Given the description of an element on the screen output the (x, y) to click on. 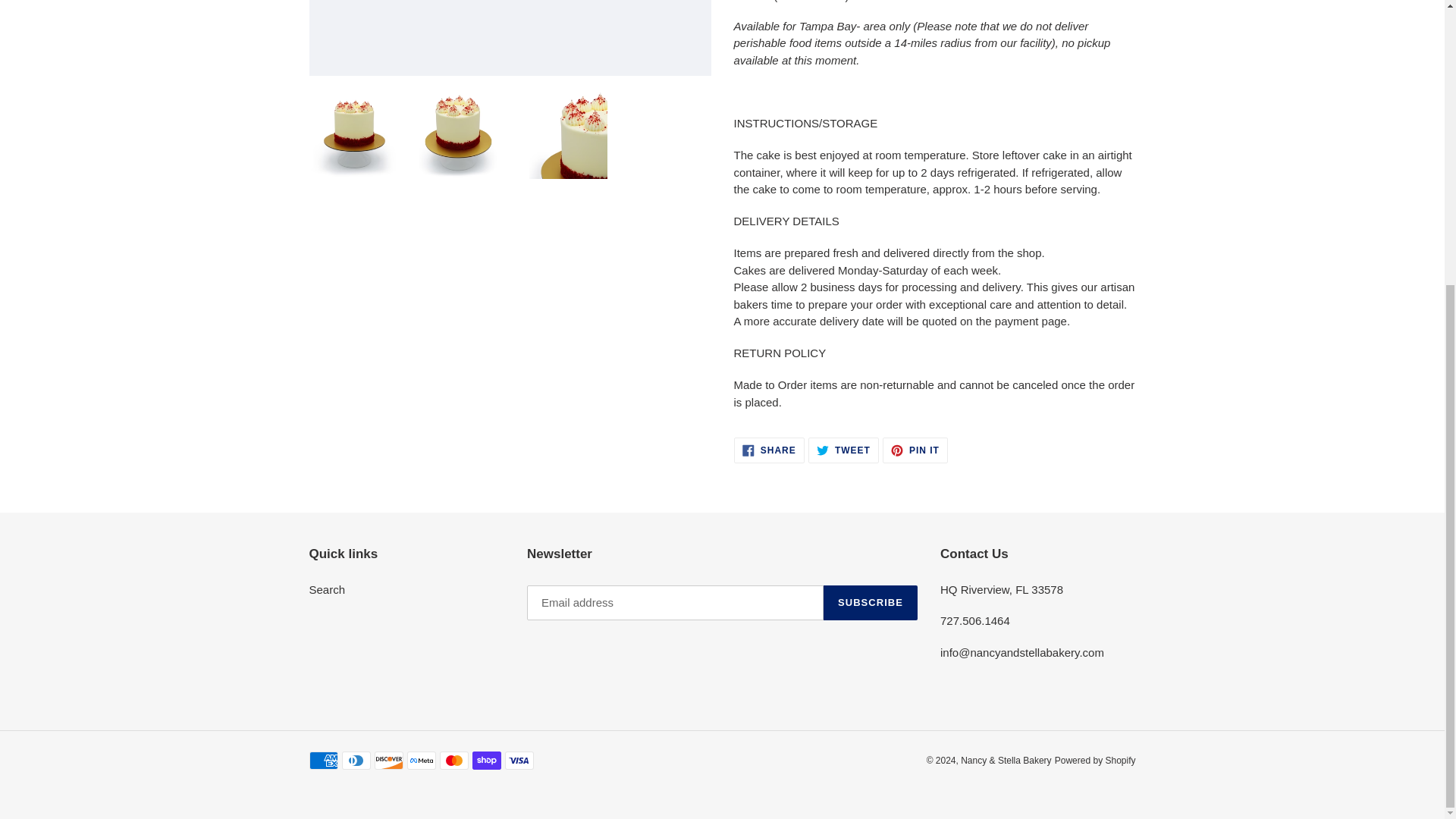
SUBSCRIBE (914, 450)
Powered by Shopify (769, 450)
Search (870, 602)
